Given the description of an element on the screen output the (x, y) to click on. 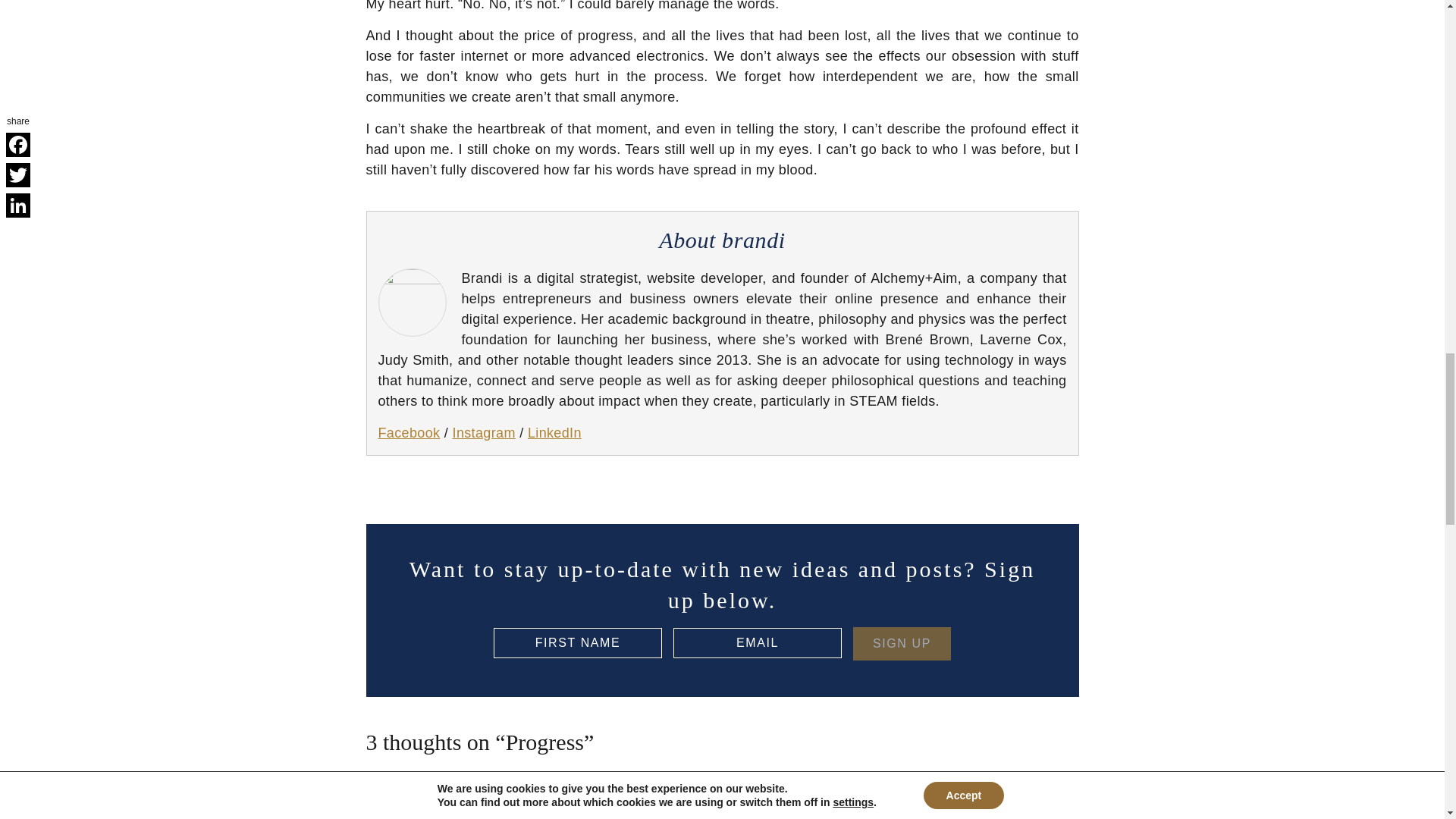
Sign Up (901, 643)
Sign Up (901, 643)
Instagram (483, 432)
31 DEC 2012 AT 3:22 PM (1019, 809)
Facebook (408, 432)
LinkedIn (553, 432)
